Given the description of an element on the screen output the (x, y) to click on. 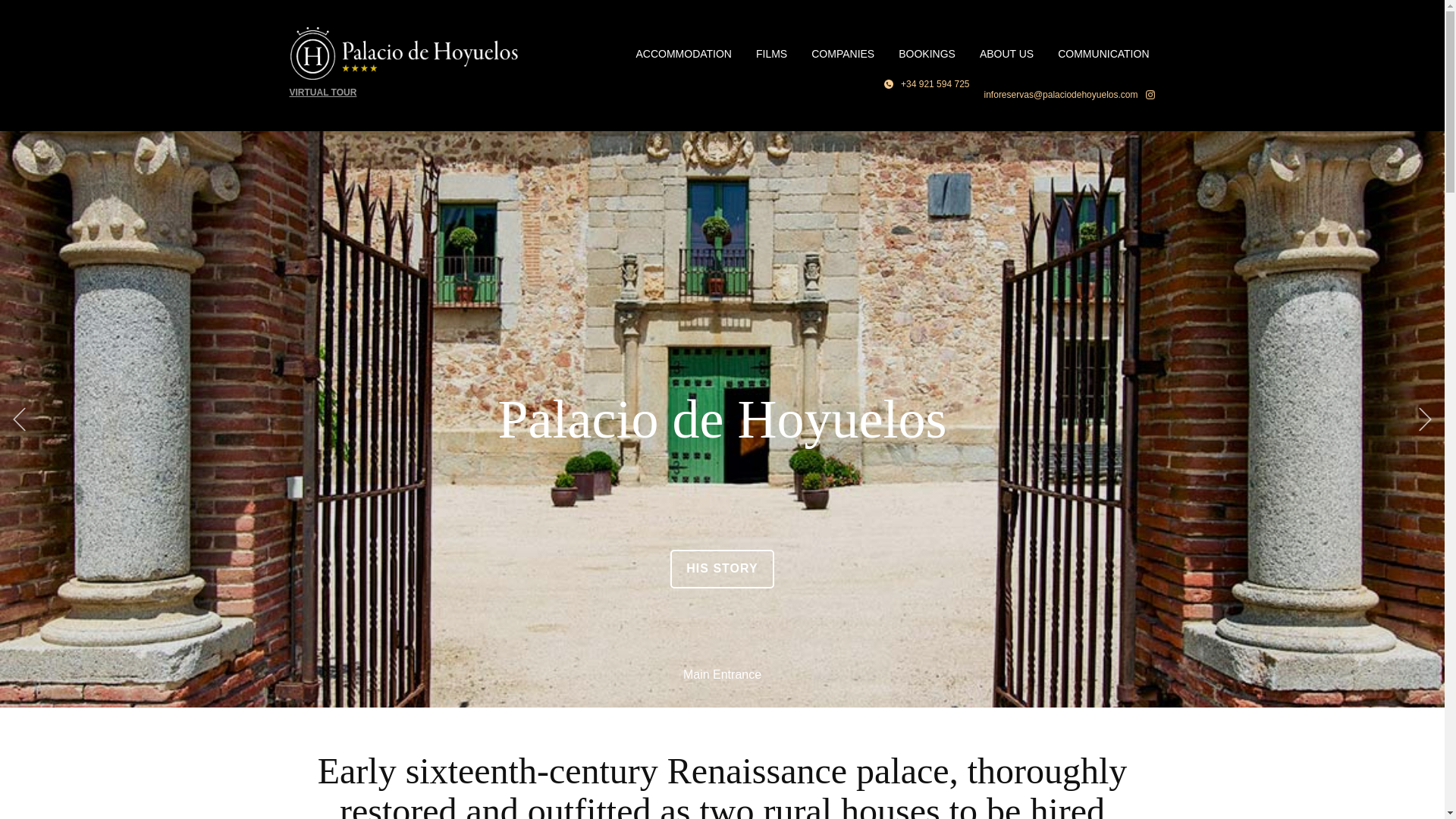
ACCOMMODATION (683, 53)
HIS STORY (721, 568)
COMMUNICATION (1102, 53)
COMPANIES (842, 53)
FILMS (771, 53)
VIRTUAL TOUR (322, 91)
ABOUT US (1006, 53)
BOOKINGS (927, 53)
